Given the description of an element on the screen output the (x, y) to click on. 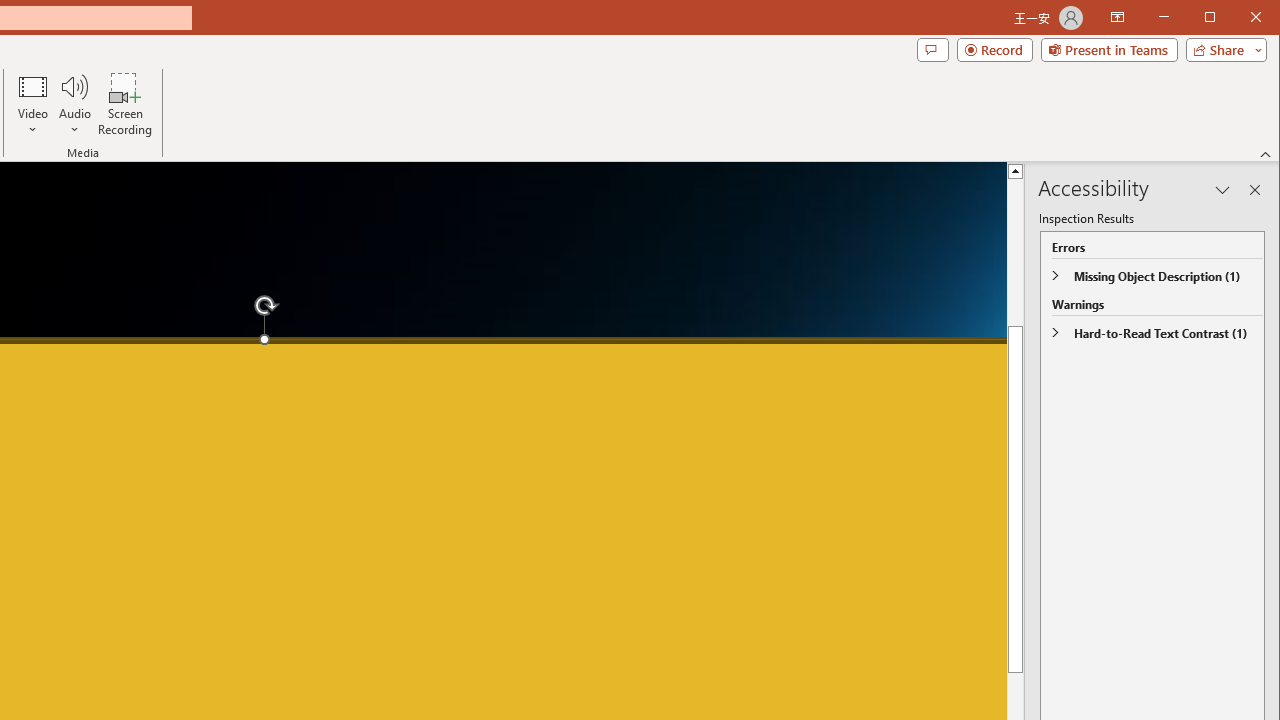
Maximize (1238, 18)
Line up (1015, 170)
Screen Recording... (125, 104)
Page up (1015, 311)
